Given the description of an element on the screen output the (x, y) to click on. 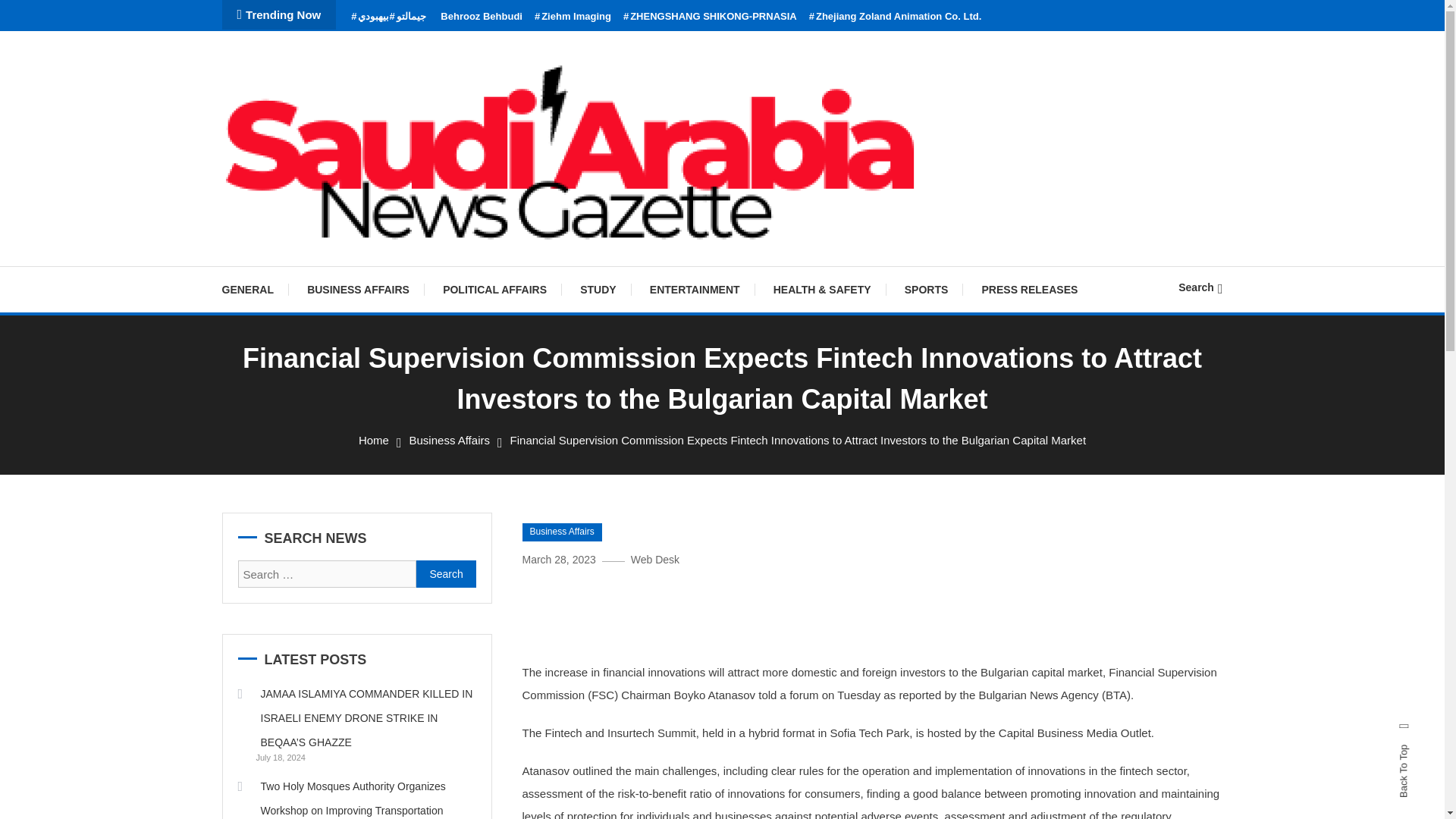
SPORTS (926, 289)
Search (1200, 287)
ZHENGSHANG SHIKONG-PRNASIA (709, 16)
Home (373, 440)
PRESS RELEASES (1029, 289)
GENERAL (254, 289)
ENTERTAINMENT (694, 289)
Business Affairs (449, 440)
Search (446, 574)
Saudi Arabia News Gazette (396, 263)
Ziehm Imaging (572, 16)
Search (768, 434)
Search (446, 574)
STUDY (597, 289)
Zhejiang Zoland Animation Co. Ltd. (895, 16)
